Given the description of an element on the screen output the (x, y) to click on. 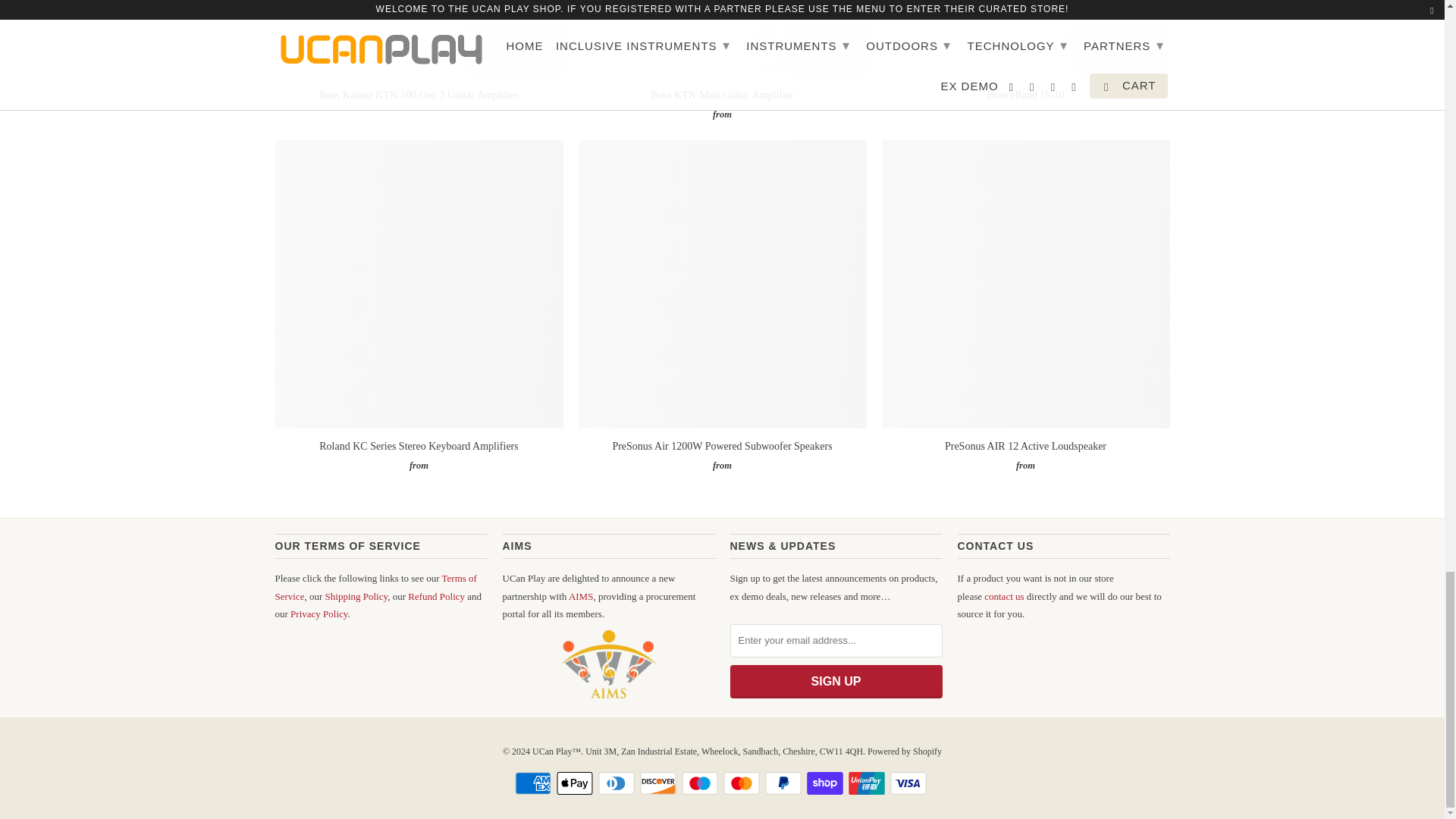
Visa (909, 783)
Diners Club (617, 783)
Mastercard (742, 783)
Refund Policy (435, 595)
Discover (659, 783)
Terms of Service (375, 586)
PayPal (785, 783)
Apple Pay (575, 783)
Maestro (700, 783)
American Express (534, 783)
